Given the description of an element on the screen output the (x, y) to click on. 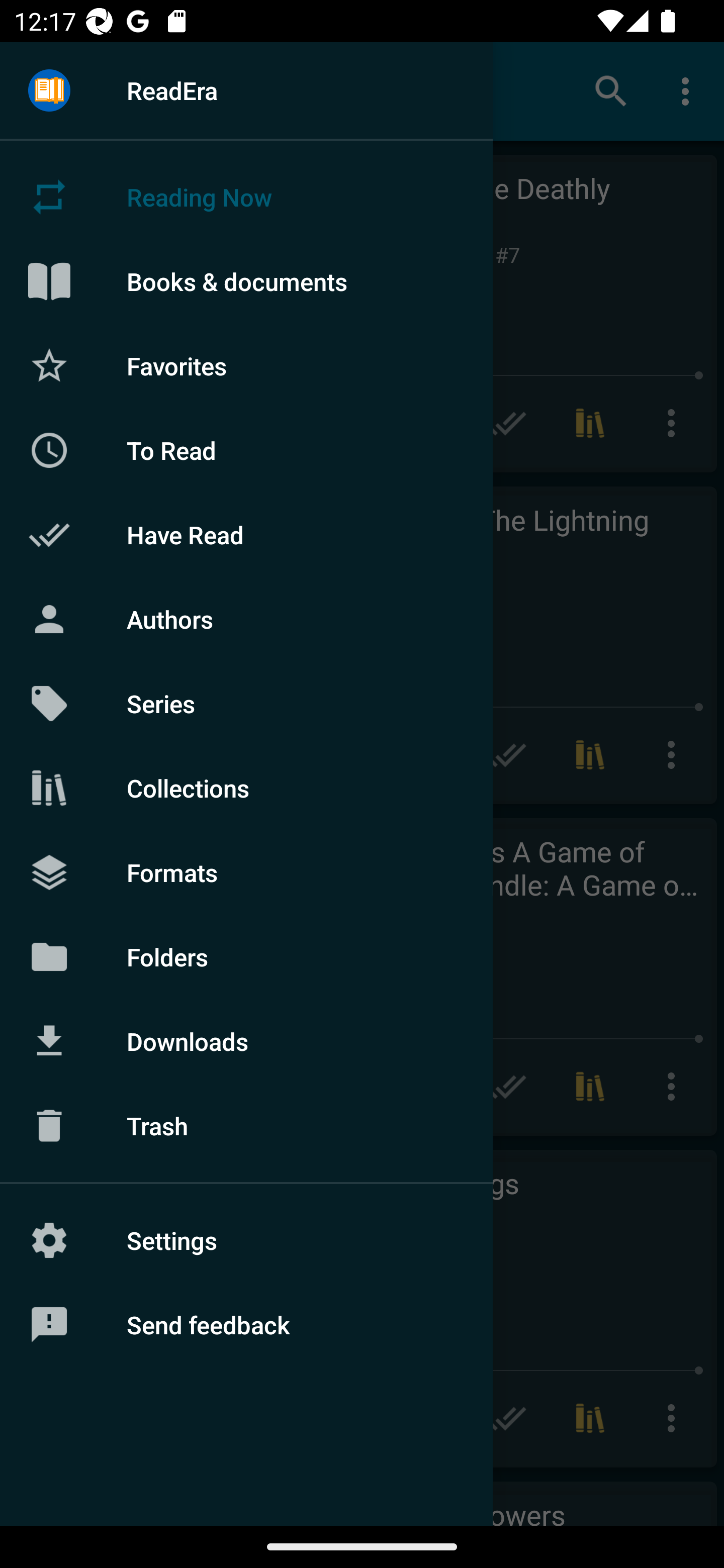
Menu (49, 91)
ReadEra (246, 89)
Search books & documents (611, 90)
More options (688, 90)
Reading Now (246, 197)
Books & documents (246, 281)
Favorites (246, 365)
To Read (246, 449)
Have Read (246, 534)
Authors (246, 619)
Series (246, 703)
Collections (246, 787)
Formats (246, 871)
Folders (246, 956)
Downloads (246, 1040)
Trash (246, 1125)
Settings (246, 1239)
Send feedback (246, 1324)
